Given the description of an element on the screen output the (x, y) to click on. 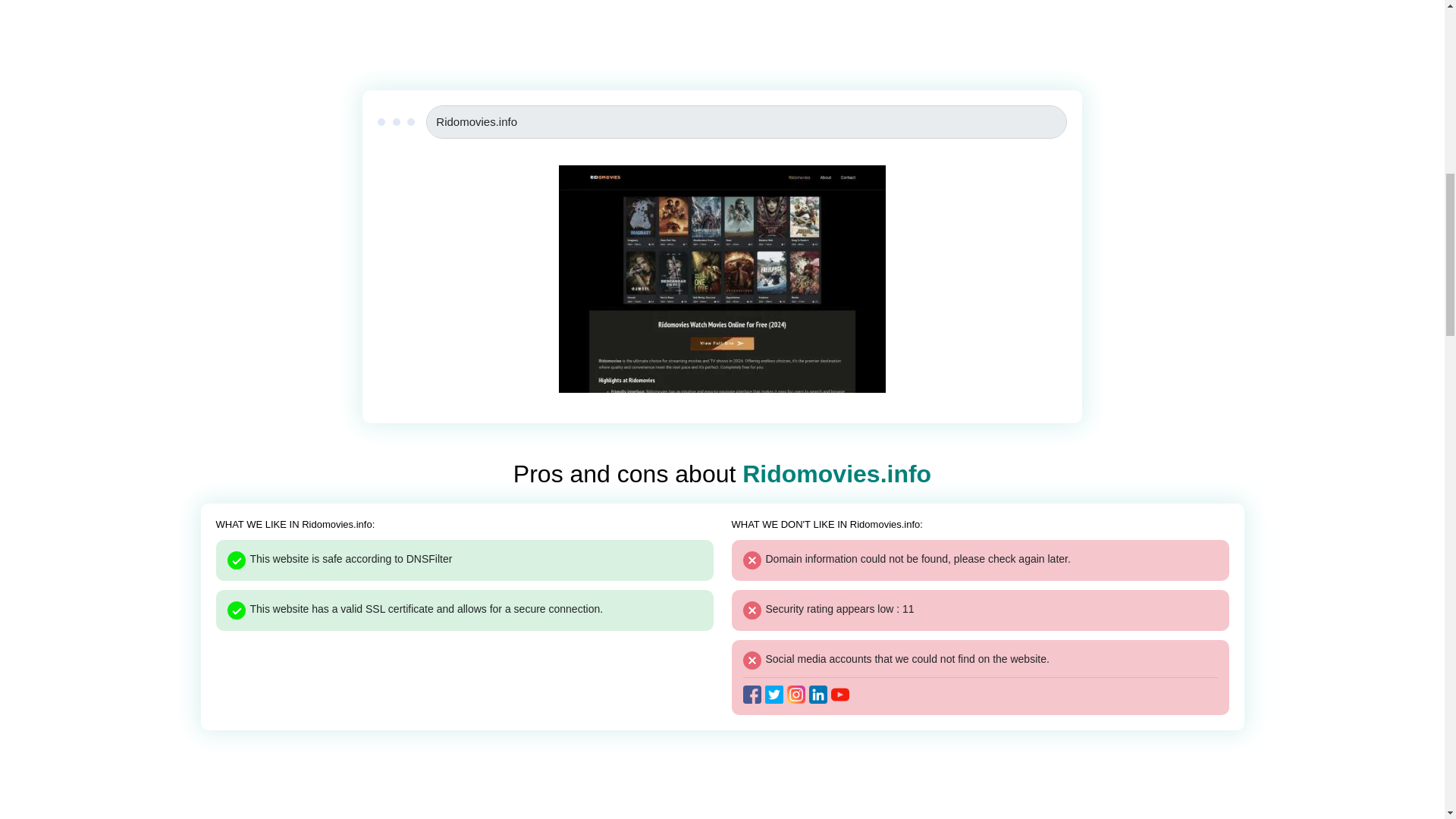
Ridomovies.info (745, 121)
